Given the description of an element on the screen output the (x, y) to click on. 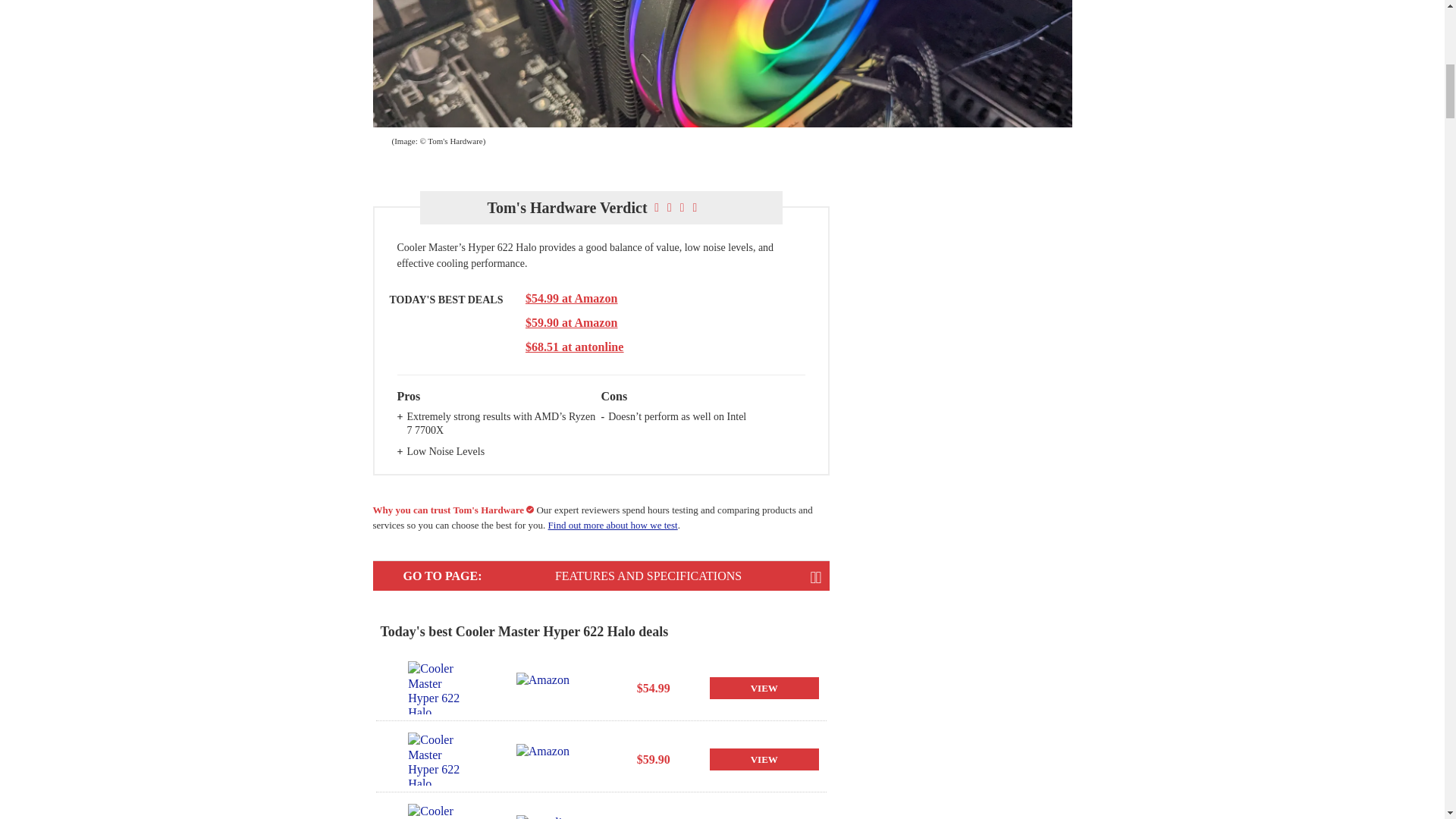
Cooler Master Hyper 622 Halo... (437, 811)
Amazon (546, 687)
Cooler Master Hyper 622 Halo... (437, 687)
Amazon (546, 758)
Cooler Master Hyper 622 Halo... (437, 758)
antonline (546, 816)
